Given the description of an element on the screen output the (x, y) to click on. 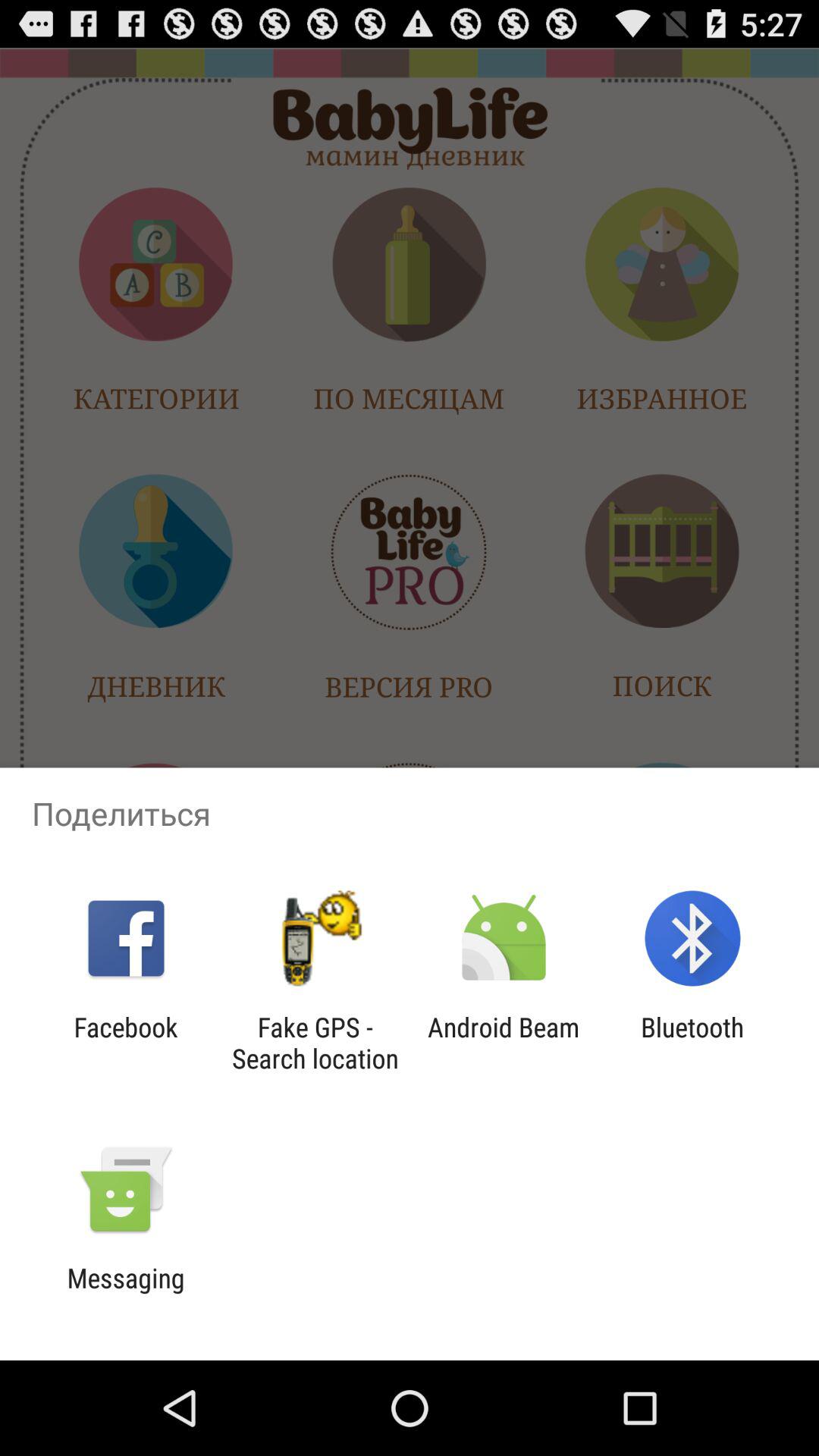
tap the bluetooth item (691, 1042)
